Given the description of an element on the screen output the (x, y) to click on. 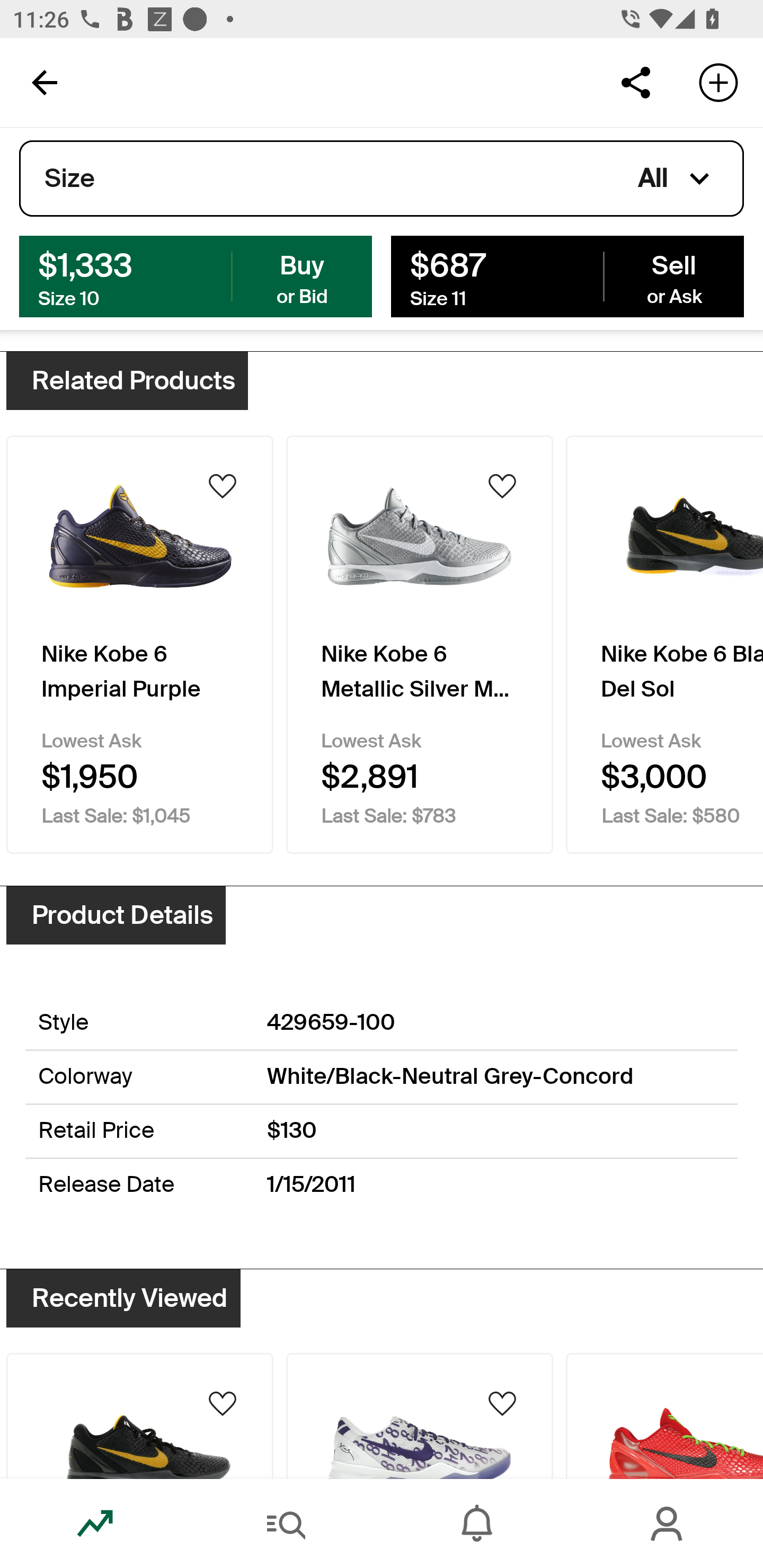
Share (635, 81)
Add (718, 81)
Size All (381, 178)
$146 Buy Size 4.5 or Bid (195, 275)
$260 Sell Size 12.5 or Ask (566, 275)
Product Image (139, 1415)
Product Image (419, 1415)
Search (285, 1523)
Inbox (476, 1523)
Account (667, 1523)
